Given the description of an element on the screen output the (x, y) to click on. 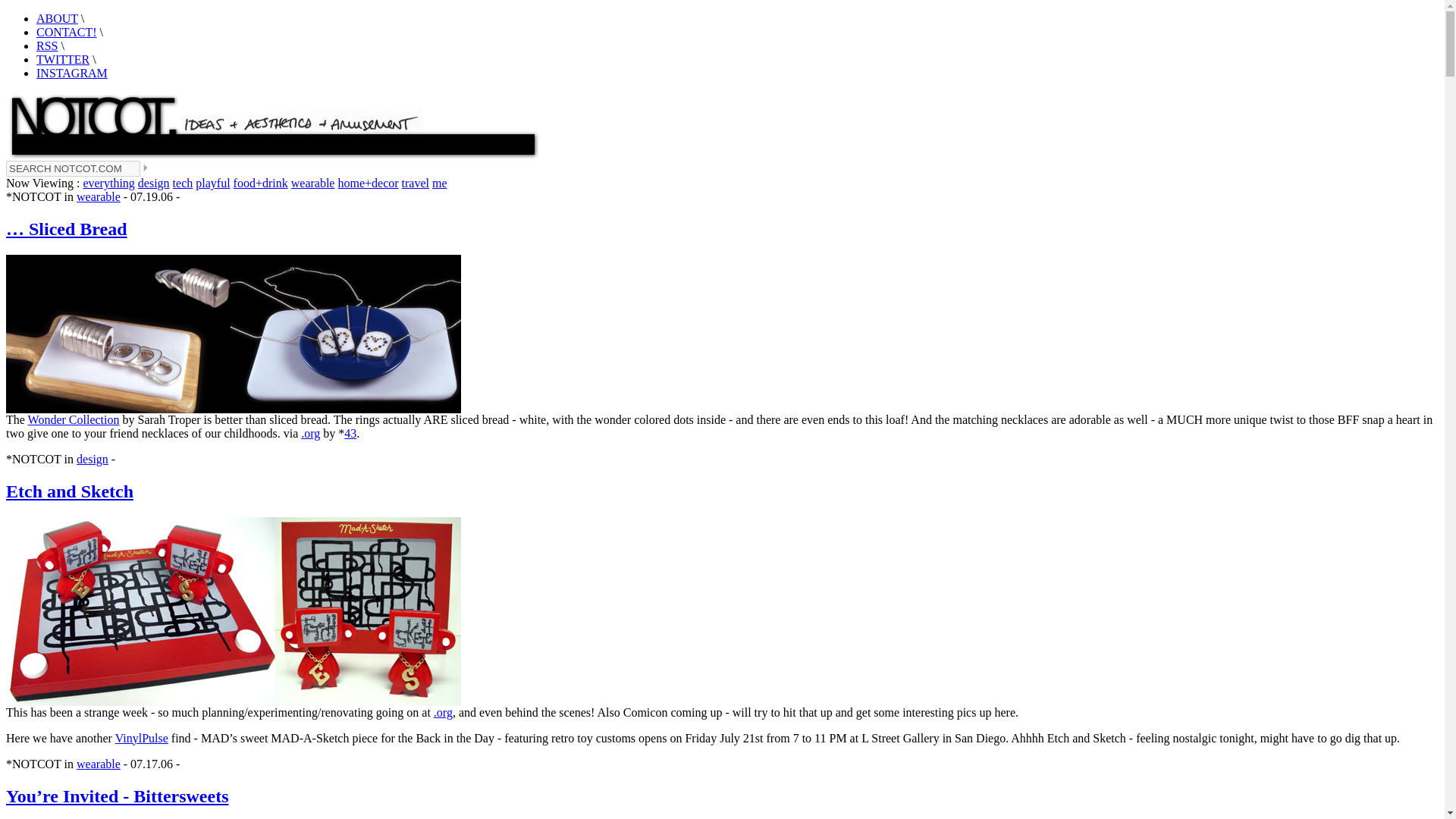
me (439, 182)
wearable (312, 182)
Etch and Sketch (69, 491)
design (92, 459)
everything (107, 182)
design (154, 182)
Wonder Collection (73, 419)
RSS (47, 45)
tech (183, 182)
wearable (98, 196)
travel (415, 182)
INSTAGRAM (71, 72)
43 (349, 432)
ABOUT (57, 18)
SEARCH NOTCOT.COM (72, 168)
